Given the description of an element on the screen output the (x, y) to click on. 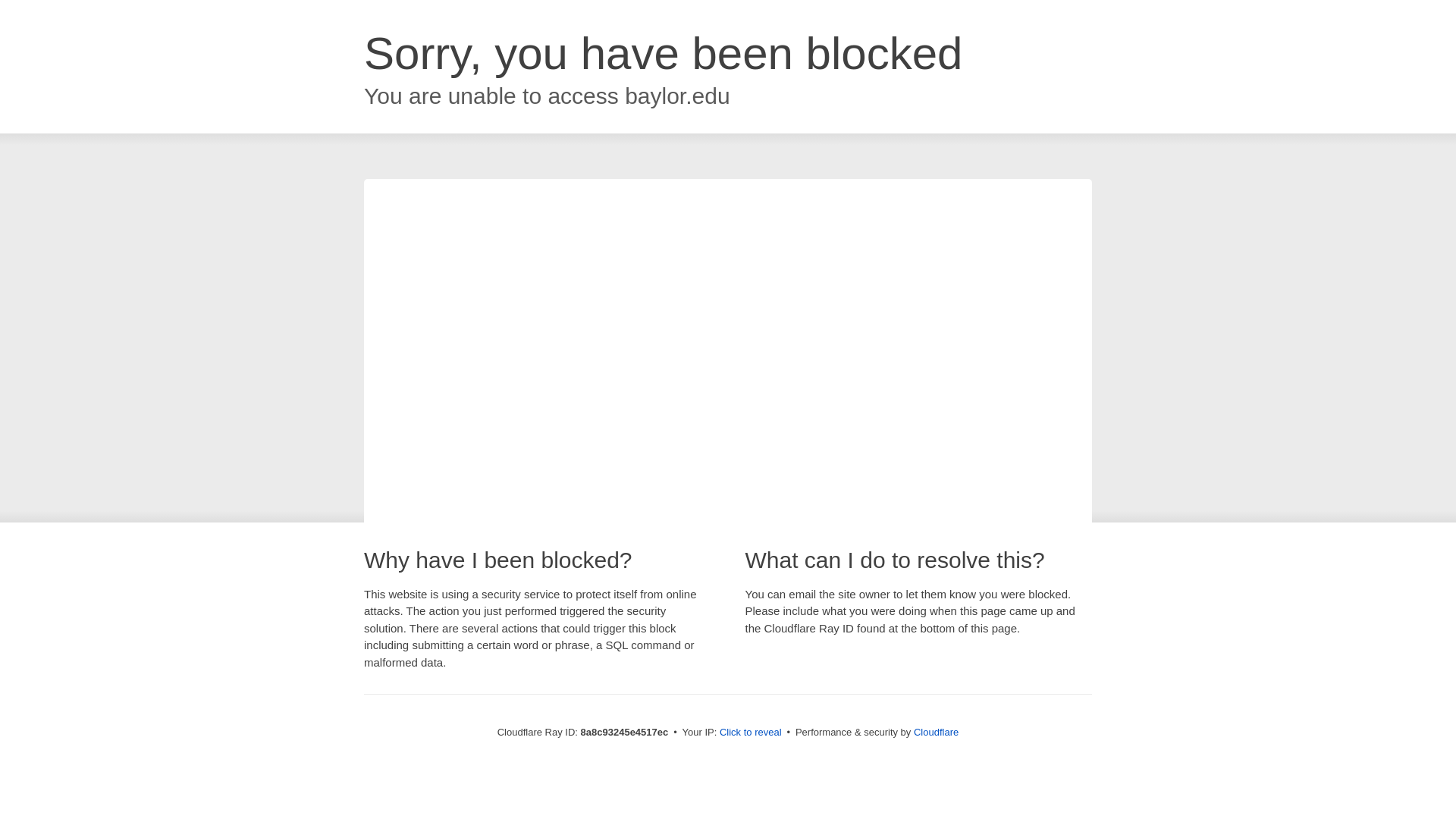
Cloudflare (936, 731)
Click to reveal (750, 732)
